Given the description of an element on the screen output the (x, y) to click on. 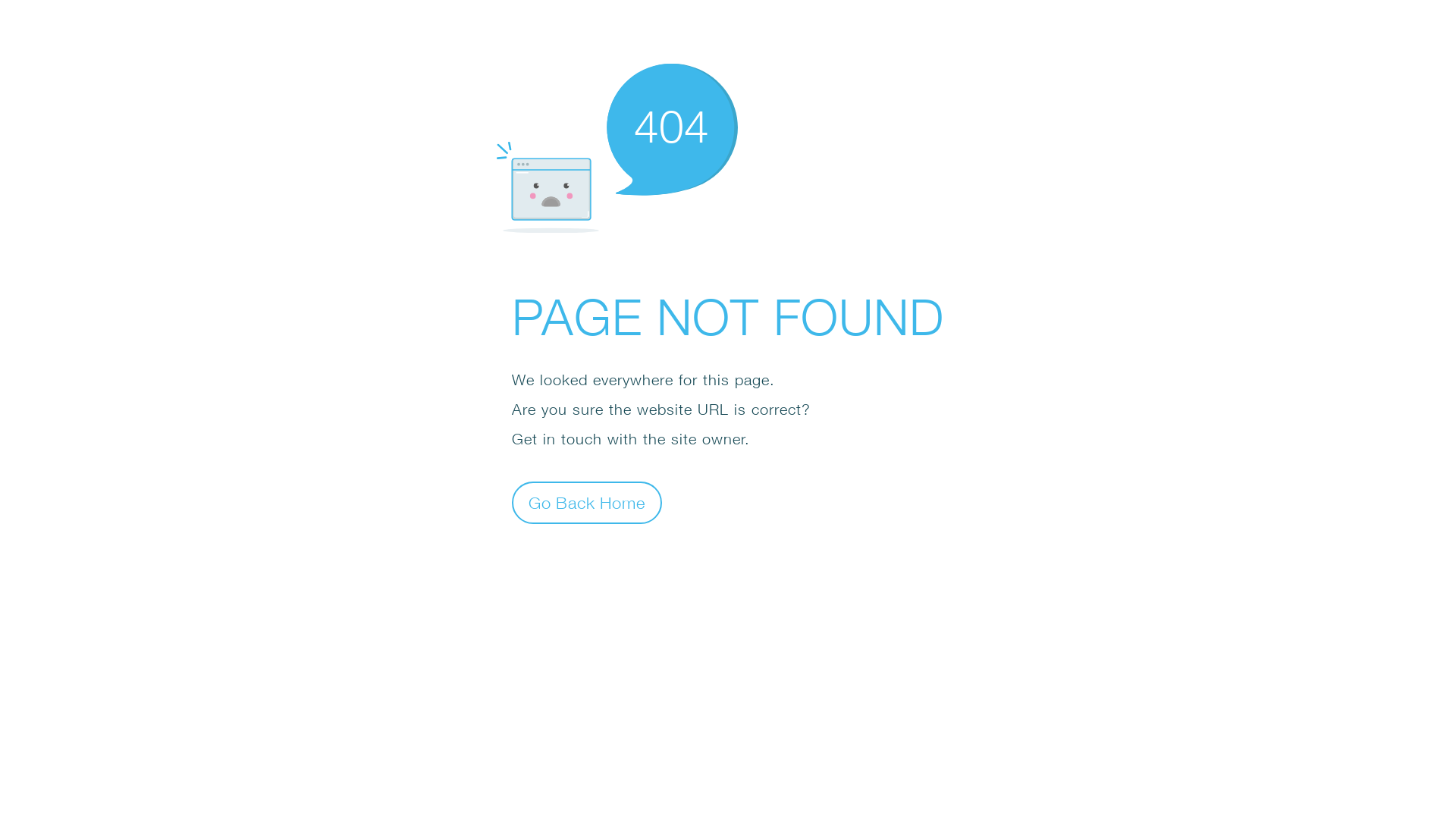
Go Back Home Element type: text (586, 502)
